Given the description of an element on the screen output the (x, y) to click on. 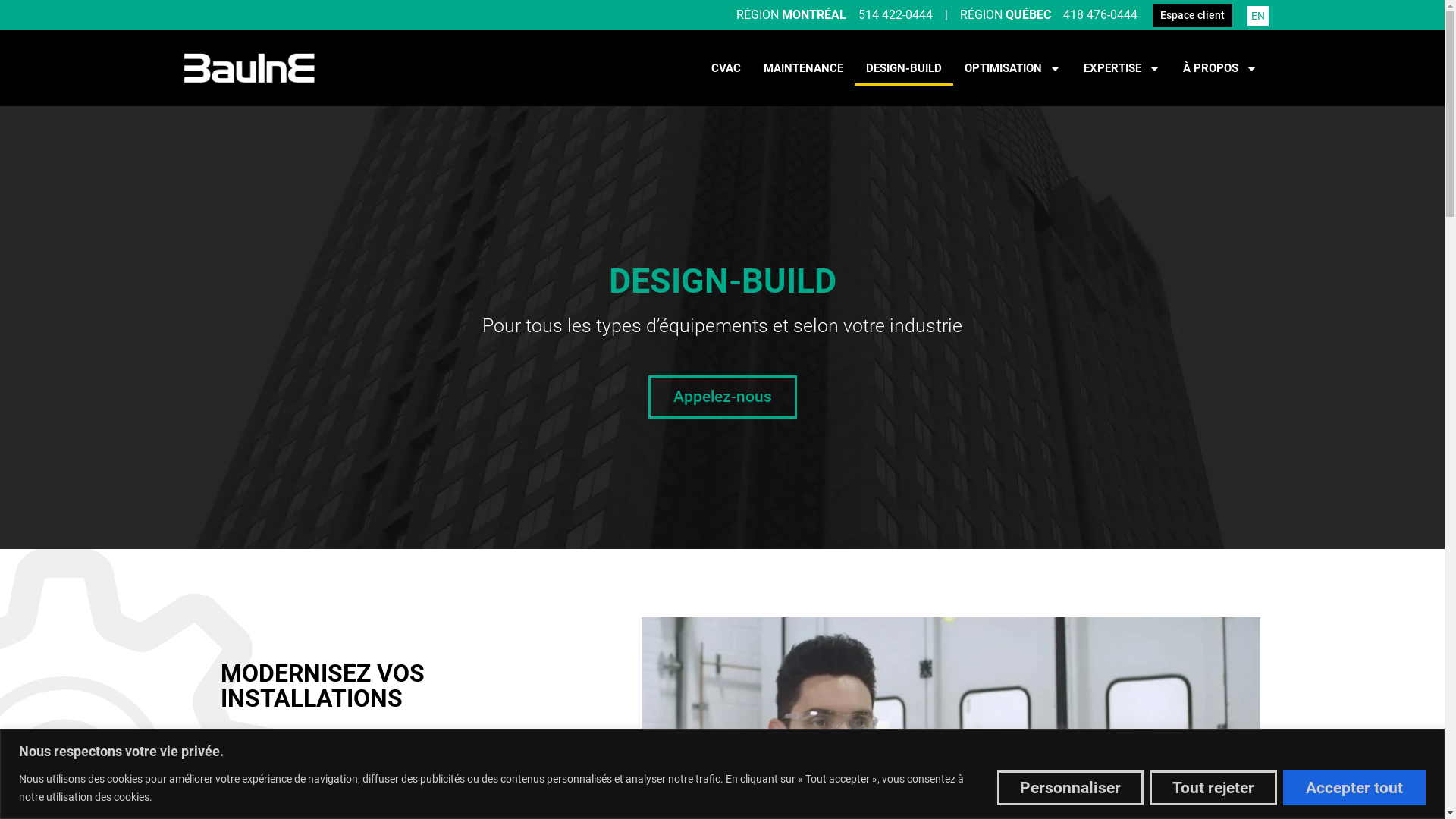
514 422-0444 Element type: text (895, 15)
OPTIMISATION Element type: text (1011, 67)
418 476-0444 Element type: text (1100, 15)
MAINTENANCE Element type: text (803, 67)
Personnaliser Element type: text (1070, 787)
EXPERTISE Element type: text (1121, 67)
Appelez-nous Element type: text (721, 396)
Accepter tout Element type: text (1354, 787)
EN Element type: text (1257, 15)
Tout rejeter Element type: text (1213, 787)
Espace client Element type: text (1192, 14)
CVAC Element type: text (725, 67)
DESIGN-BUILD Element type: text (902, 67)
